Given the description of an element on the screen output the (x, y) to click on. 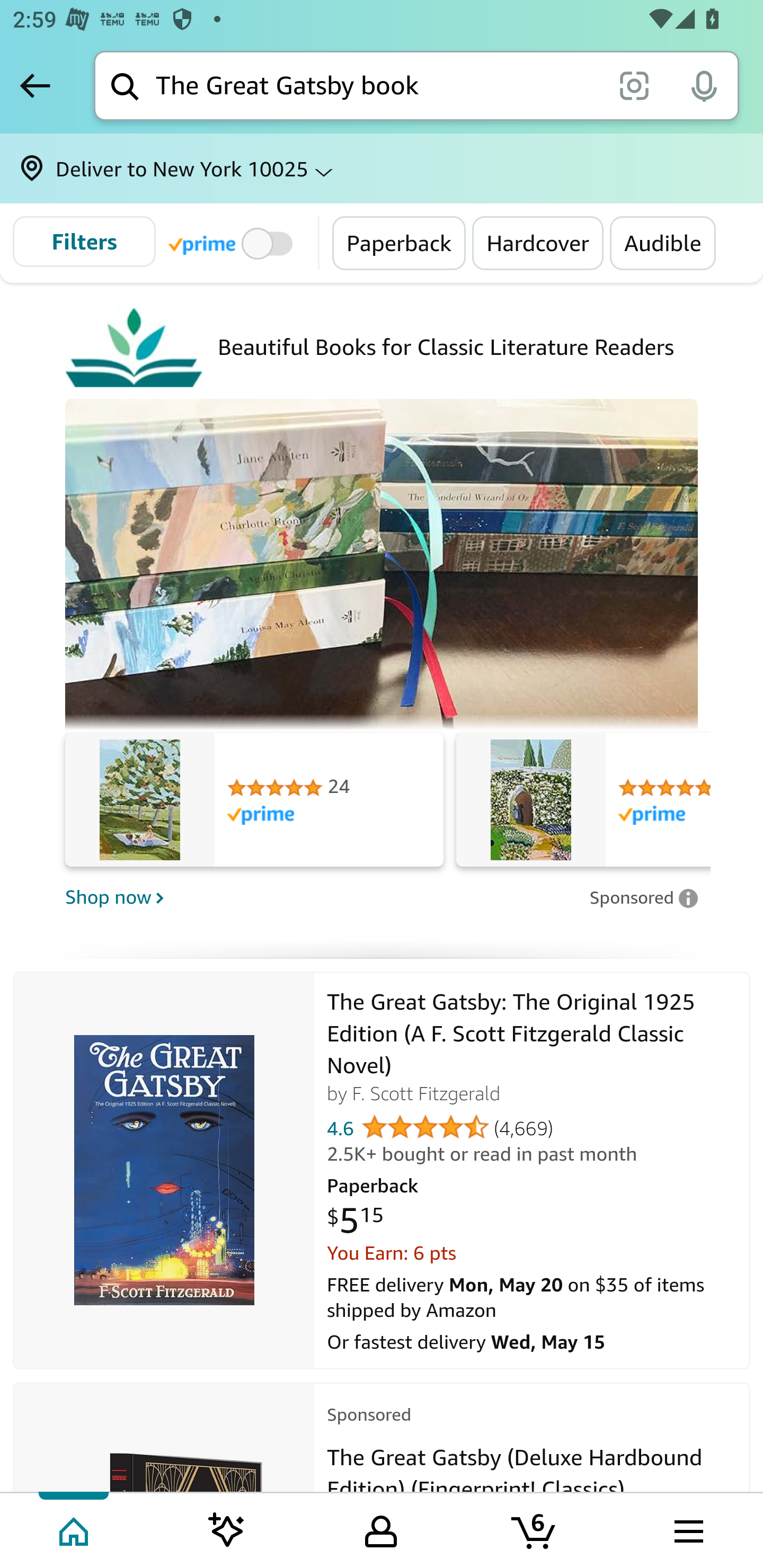
Back (35, 85)
scan it (633, 85)
Deliver to New York 10025 ⌵ (381, 168)
Filters (83, 241)
Toggle to filter by Prime products Prime Eligible (233, 242)
Paperback (398, 242)
Hardcover (538, 242)
Audible (662, 242)
Shop now Shop  now  (321, 897)
Leave feedback on Sponsored ad (643, 898)
Home Tab 1 of 5 (75, 1529)
Inspire feed Tab 2 of 5 (227, 1529)
Your Amazon.com Tab 3 of 5 (380, 1529)
Cart 6 items Tab 4 of 5 6 (534, 1529)
Browse menu Tab 5 of 5 (687, 1529)
